Given the description of an element on the screen output the (x, y) to click on. 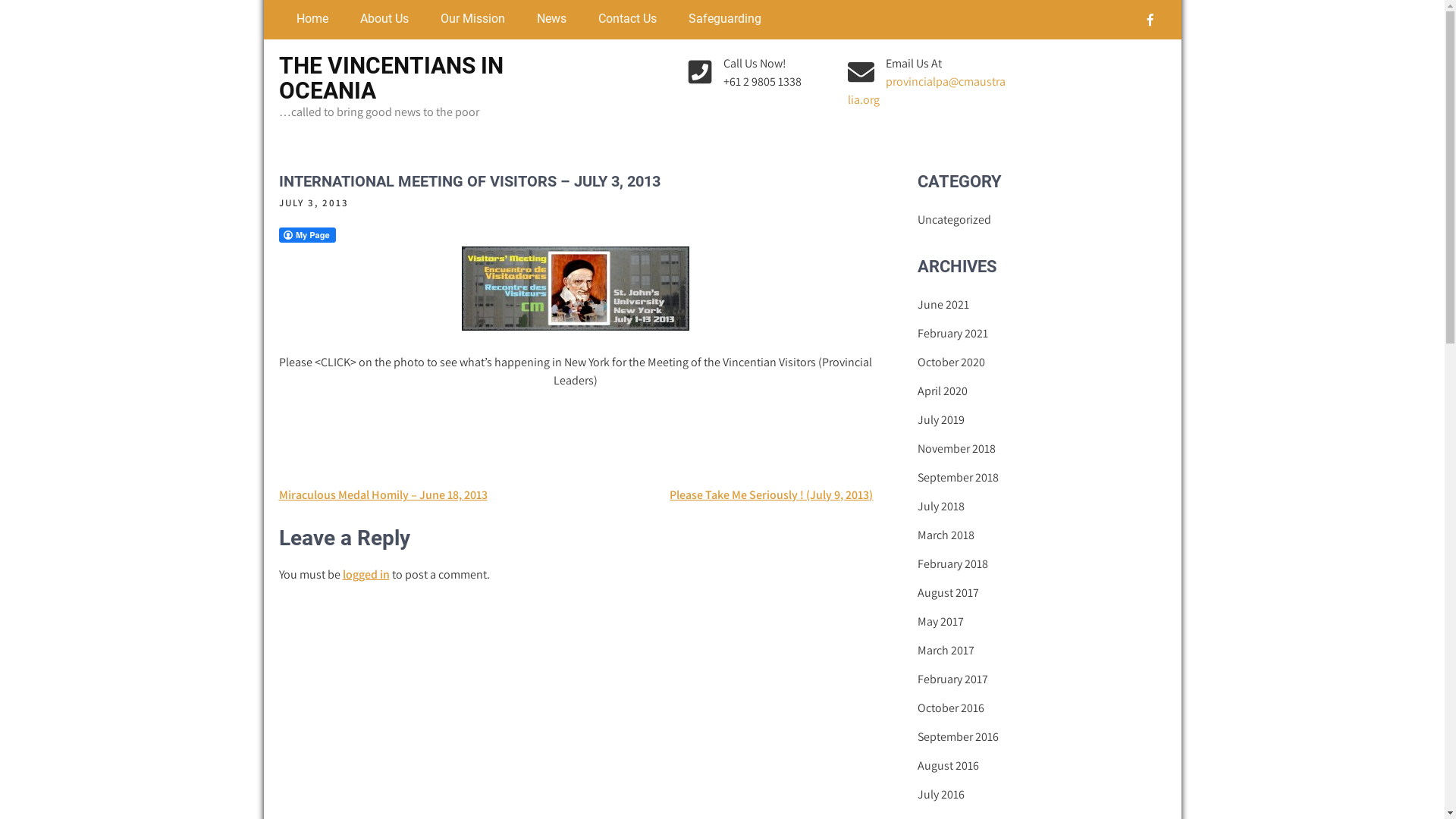
Home Element type: text (309, 19)
May 2017 Element type: text (940, 621)
October 2020 Element type: text (951, 362)
July 2019 Element type: text (940, 420)
February 2018 Element type: text (952, 564)
September 2018 Element type: text (957, 477)
April 2020 Element type: text (942, 391)
November 2018 Element type: text (956, 448)
August 2016 Element type: text (948, 765)
News Element type: text (547, 19)
Our Mission Element type: text (469, 19)
October 2016 Element type: text (950, 708)
June 2021 Element type: text (943, 304)
Please Take Me Seriously ! (July 9, 2013) Element type: text (770, 494)
September 2016 Element type: text (957, 737)
THE VINCENTIANS IN OCEANIA Element type: text (391, 77)
February 2017 Element type: text (952, 679)
facebook Element type: hover (1149, 19)
March 2017 Element type: text (945, 650)
Safeguarding Element type: text (720, 19)
July 2016 Element type: text (940, 794)
March 2018 Element type: text (945, 535)
Contact Us Element type: text (624, 19)
About Us Element type: text (381, 19)
provincialpa@cmaustralia.org Element type: text (926, 90)
August 2017 Element type: text (948, 592)
July 2018 Element type: text (940, 506)
logged in Element type: text (365, 574)
Uncategorized Element type: text (954, 219)
February 2021 Element type: text (952, 333)
